Given the description of an element on the screen output the (x, y) to click on. 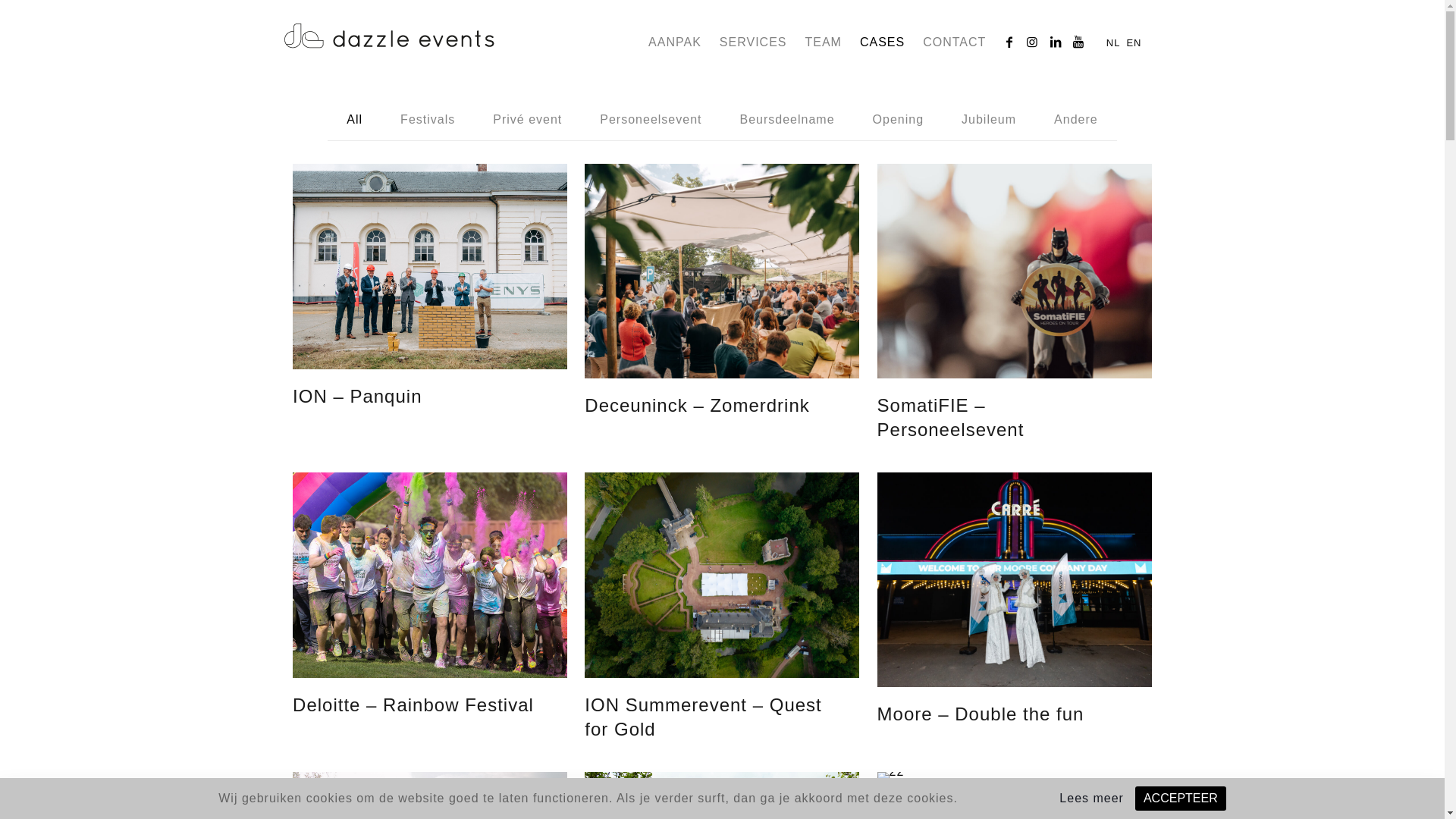
CONTACT Element type: text (953, 47)
All Element type: text (354, 120)
Dazzle Events Element type: hover (388, 32)
Opening Element type: text (898, 119)
Festivals Element type: text (427, 119)
SERVICES Element type: text (753, 47)
Lees meer Element type: text (1091, 798)
Jubileum Element type: text (988, 119)
Beursdeelname Element type: text (786, 119)
AANPAK Element type: text (674, 47)
TEAM Element type: text (822, 47)
ACCEPTEER Element type: text (1180, 798)
NL Element type: text (1113, 41)
CASES Element type: text (881, 47)
Personeelsevent Element type: text (650, 119)
EN Element type: text (1133, 41)
Andere Element type: text (1076, 119)
